Given the description of an element on the screen output the (x, y) to click on. 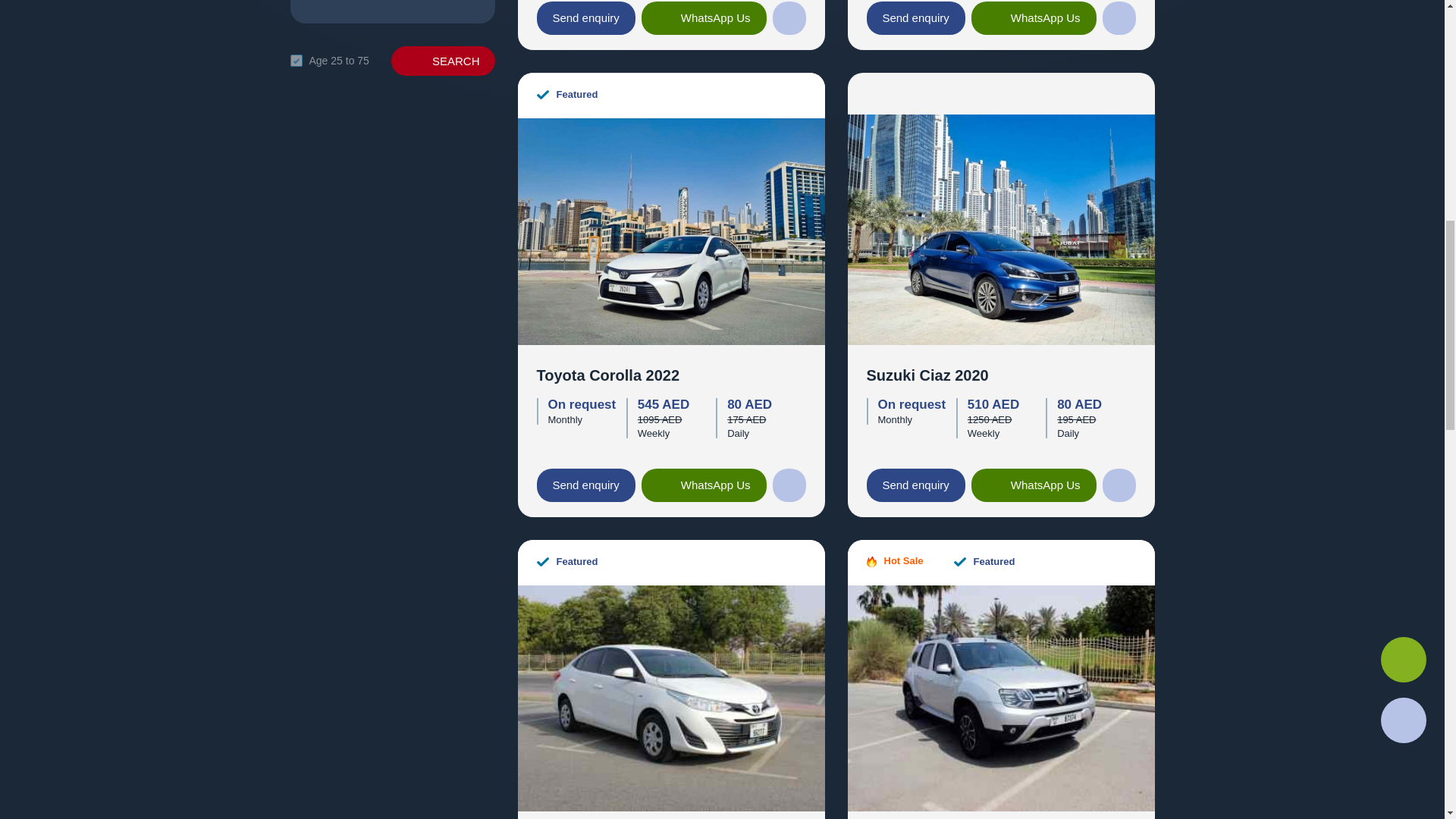
Suzuki Ciaz 2020 (1000, 229)
Toyota Yaris 2019 Sedan (670, 695)
Renault Duster 4x4 2018 (1000, 695)
Toyota Corolla 2022 (670, 229)
